Given the description of an element on the screen output the (x, y) to click on. 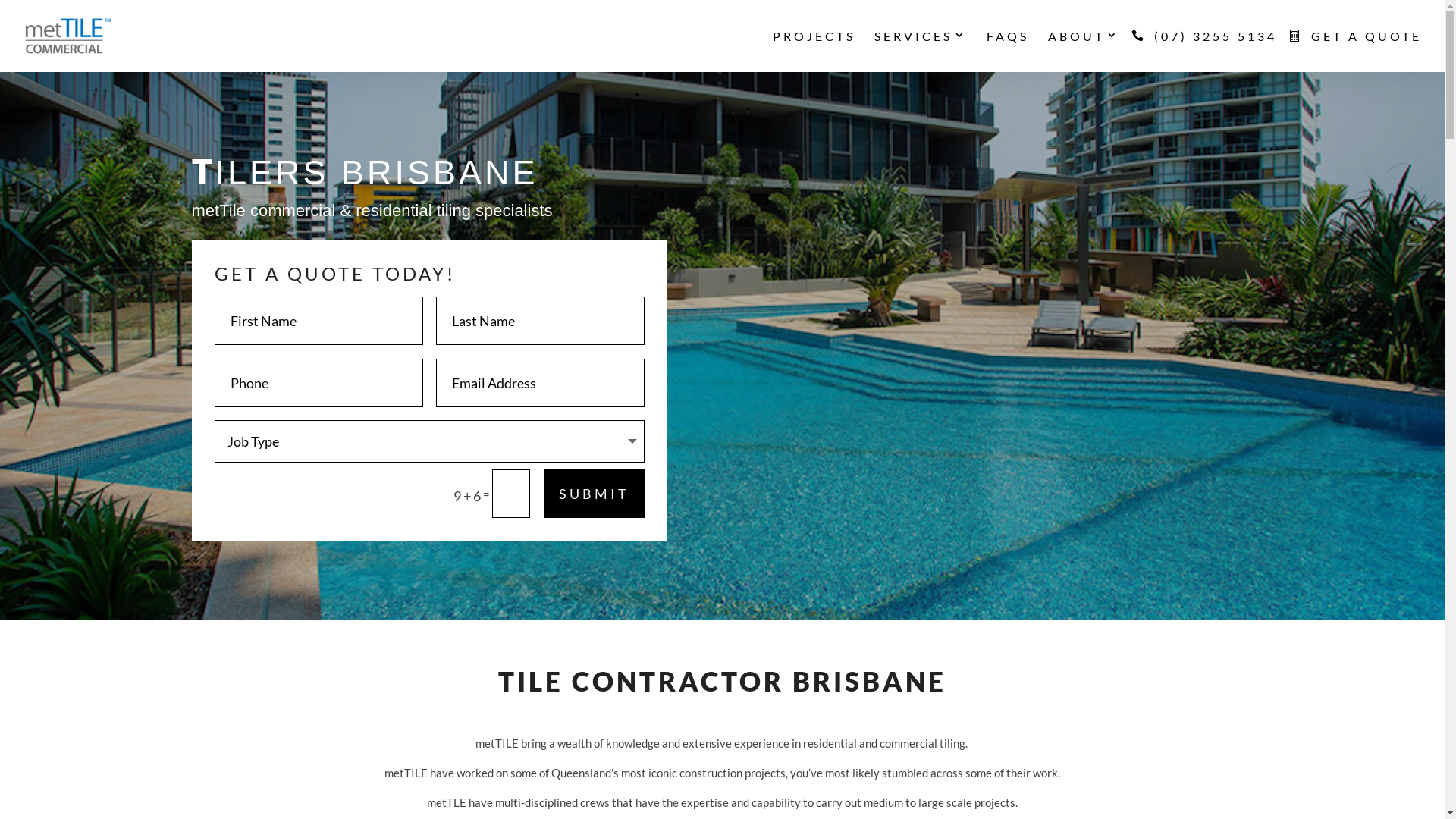
ABOUT Element type: text (1084, 51)
FAQS Element type: text (1007, 51)
SUBMIT Element type: text (593, 493)
GET A QUOTE Element type: text (1358, 51)
(07) 3255 5134 Element type: text (1208, 51)
SERVICES Element type: text (920, 51)
PROJECTS Element type: text (813, 51)
